Given the description of an element on the screen output the (x, y) to click on. 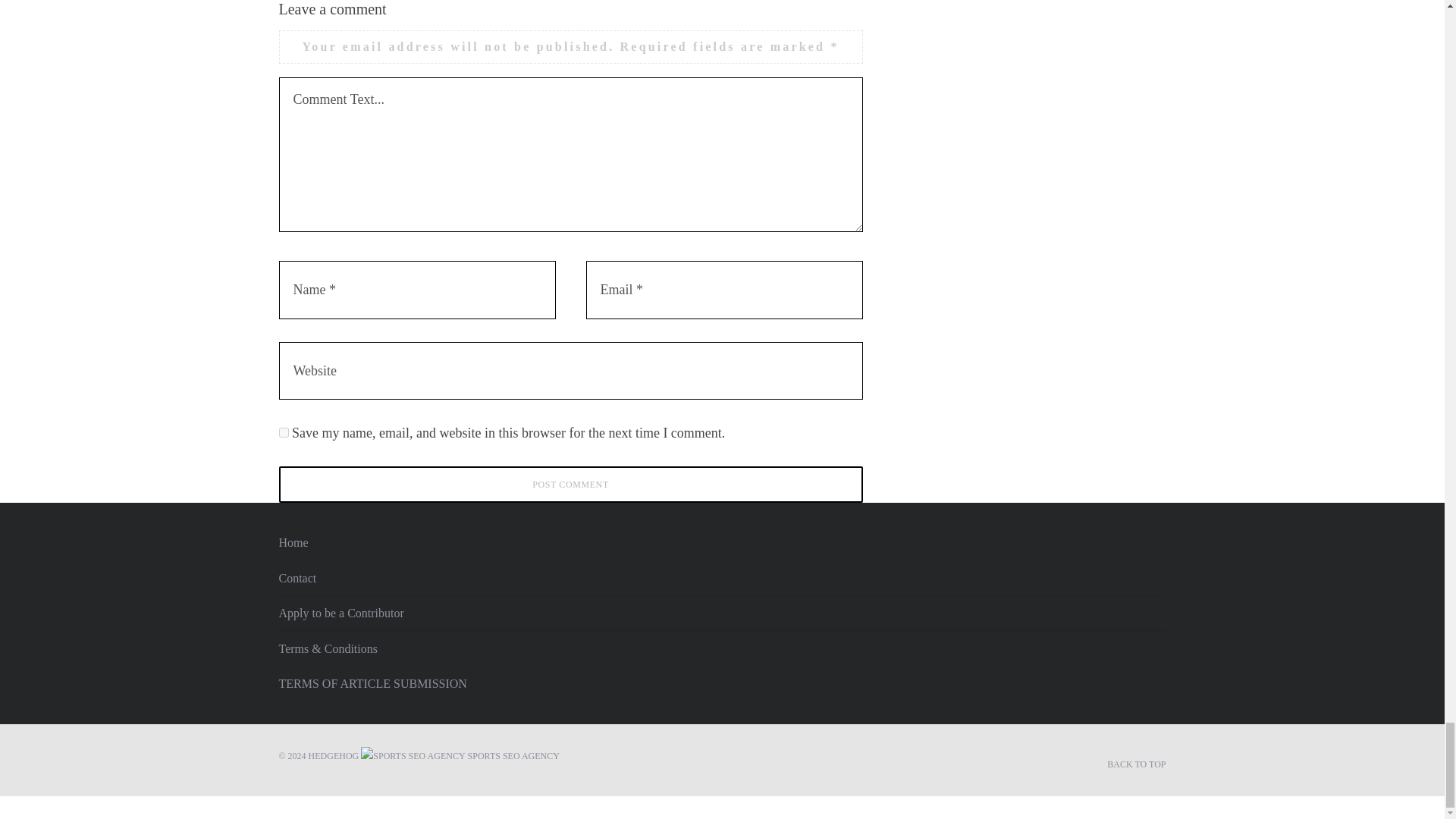
Post Comment (571, 484)
yes (283, 432)
